Given the description of an element on the screen output the (x, y) to click on. 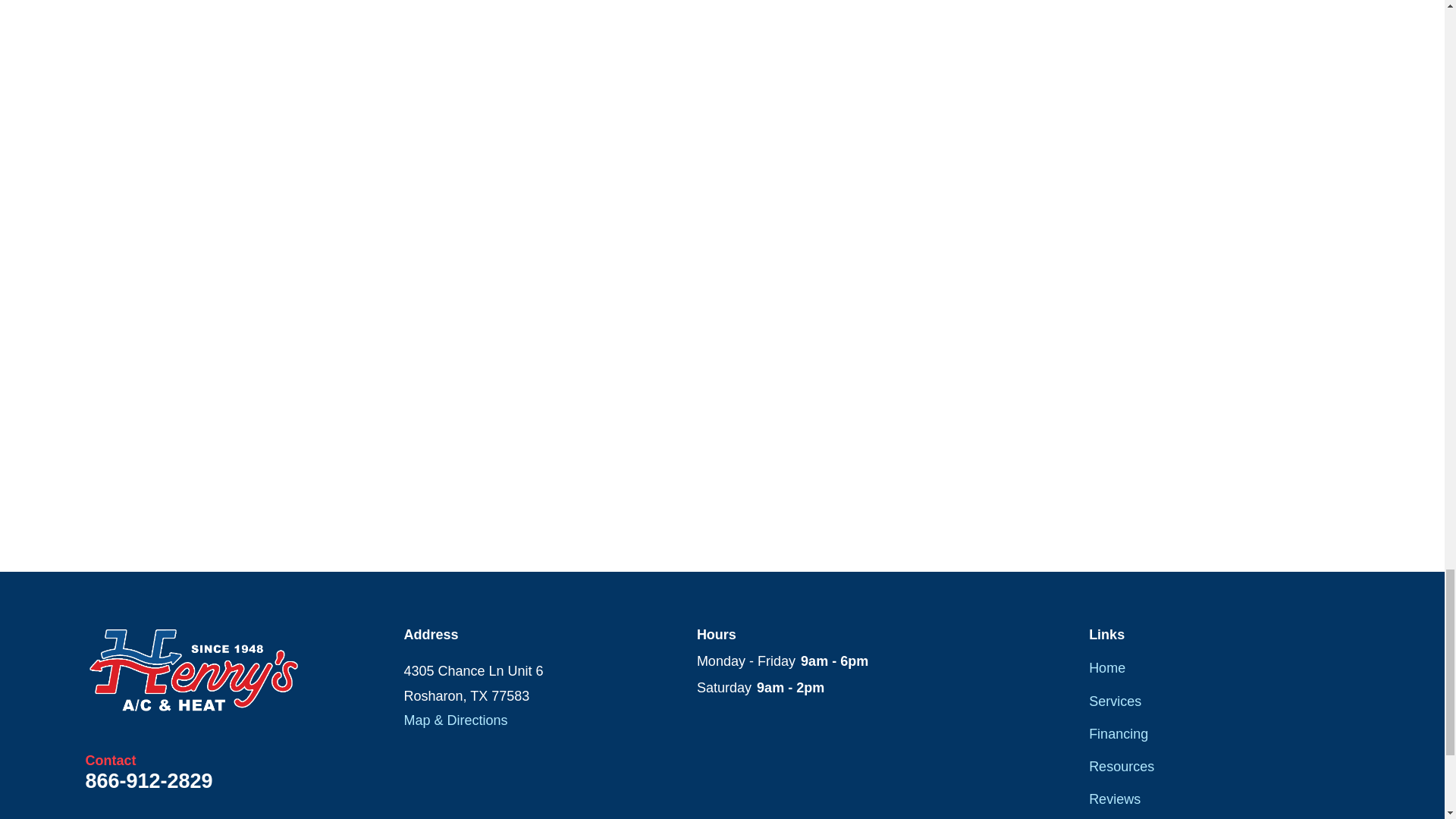
Home (193, 670)
